Given the description of an element on the screen output the (x, y) to click on. 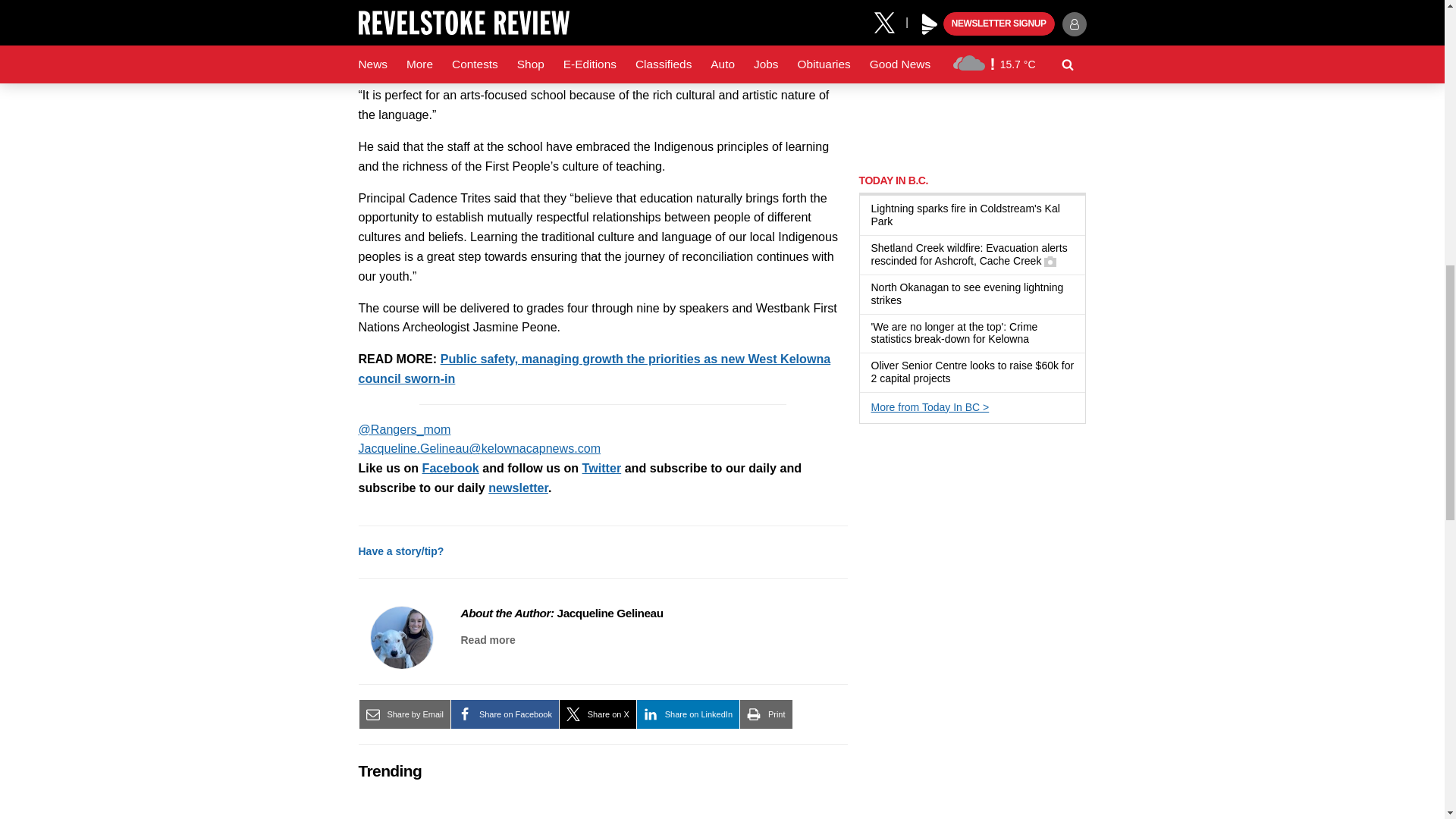
Has a gallery (1050, 261)
